Given the description of an element on the screen output the (x, y) to click on. 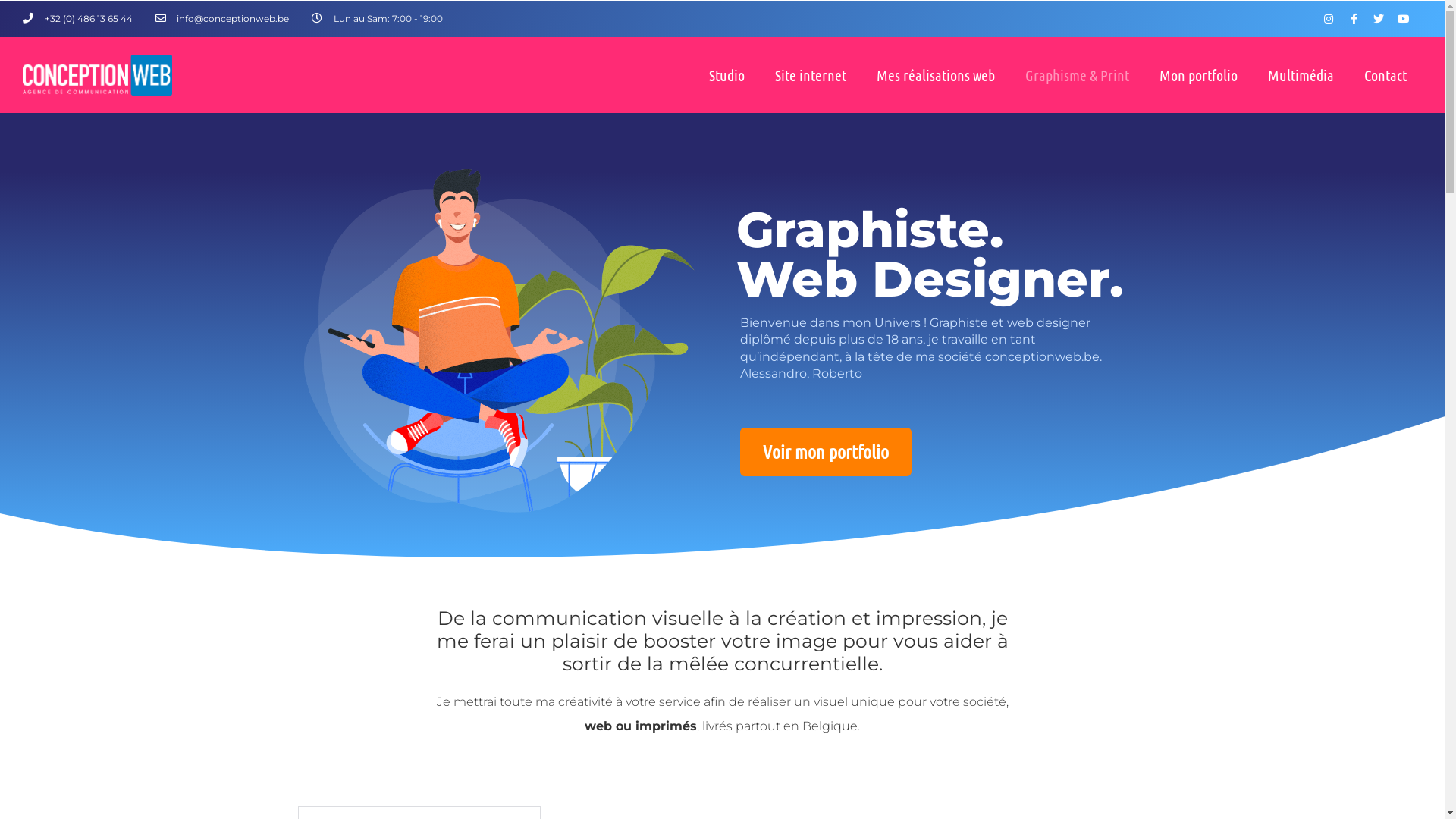
Contact Element type: text (1385, 74)
info@conceptionweb.be Element type: text (221, 18)
Graphisme & Print Element type: text (1077, 74)
Site internet Element type: text (810, 74)
Studio Element type: text (726, 74)
+32 (0) 486 13 65 44 Element type: text (77, 18)
Mon portfolio Element type: text (1198, 74)
Voir mon portfolio Element type: text (825, 451)
